Given the description of an element on the screen output the (x, y) to click on. 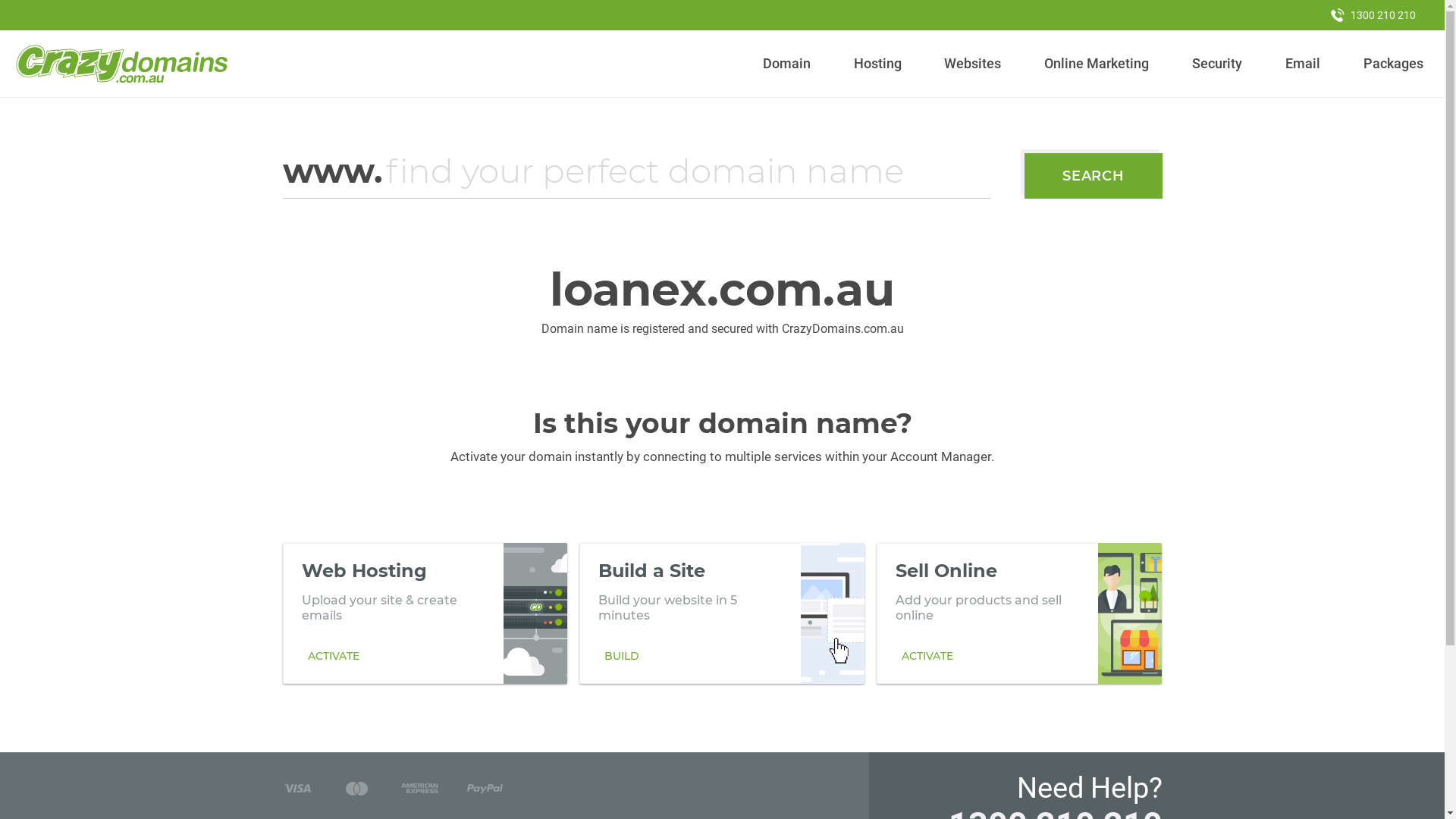
Websites Element type: text (972, 63)
Hosting Element type: text (877, 63)
1300 210 210 Element type: text (1373, 15)
Online Marketing Element type: text (1096, 63)
Security Element type: text (1217, 63)
Sell Online
Add your products and sell online
ACTIVATE Element type: text (1018, 613)
SEARCH Element type: text (1092, 175)
Packages Element type: text (1392, 63)
Build a Site
Build your website in 5 minutes
BUILD Element type: text (721, 613)
Email Element type: text (1302, 63)
Domain Element type: text (786, 63)
Web Hosting
Upload your site & create emails
ACTIVATE Element type: text (424, 613)
